Given the description of an element on the screen output the (x, y) to click on. 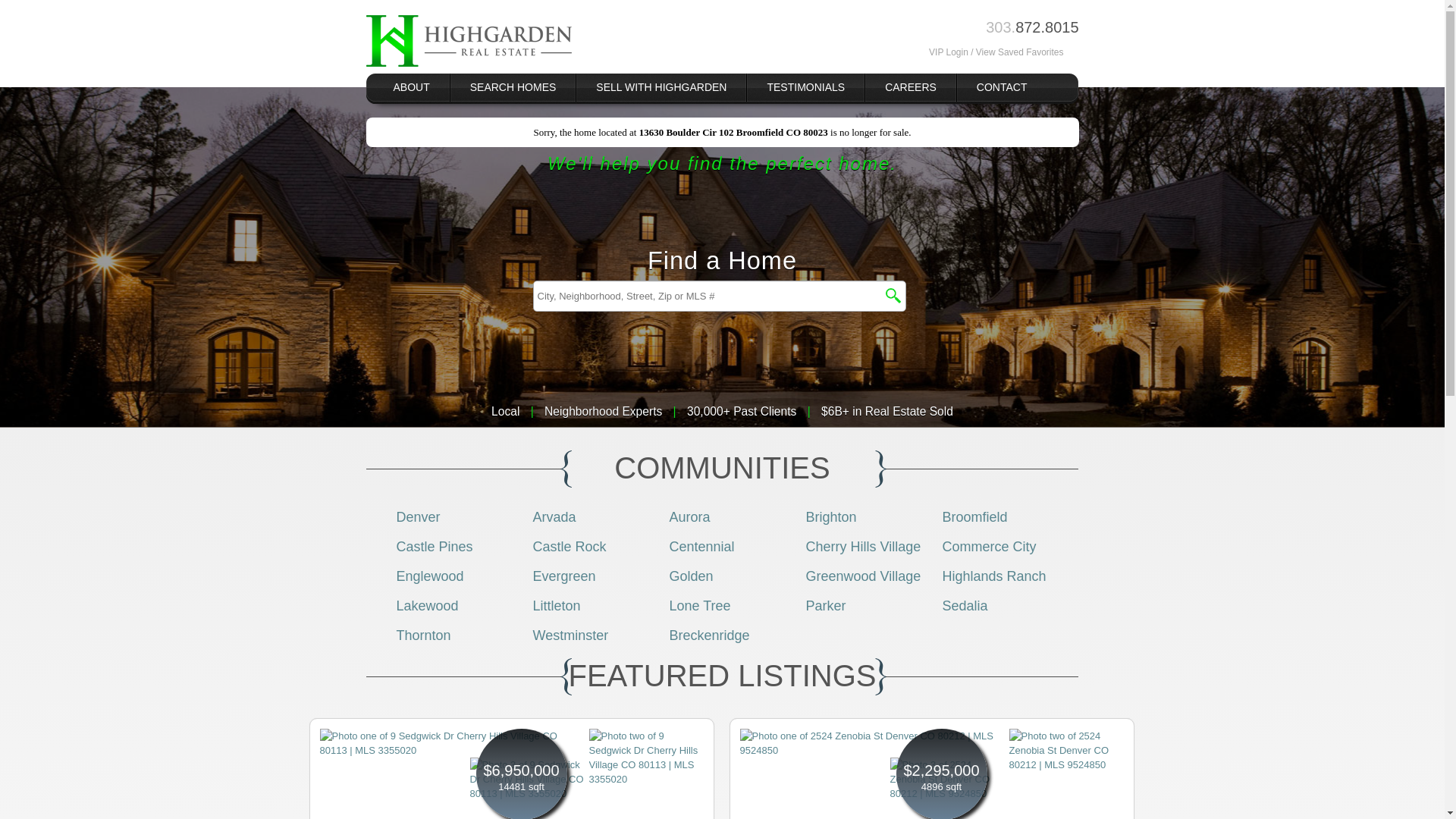
About (410, 87)
View Arvada, CO homes for sale. (553, 516)
SELL WITH HIGHGARDEN (661, 87)
View Cherry Hills Village, CO homes for sale. (862, 546)
View Englewood, CO homes for sale. (429, 575)
Commerce City (988, 546)
Golden (690, 575)
View Castle Pines, CO homes for sale. (433, 546)
SEARCH HOMES (512, 87)
Littleton (555, 605)
View Denver, CO homes for sale. (417, 516)
Thornton (422, 635)
View Centennial, CO homes for sale. (700, 546)
Breckenridge (708, 635)
Englewood (429, 575)
